Given the description of an element on the screen output the (x, y) to click on. 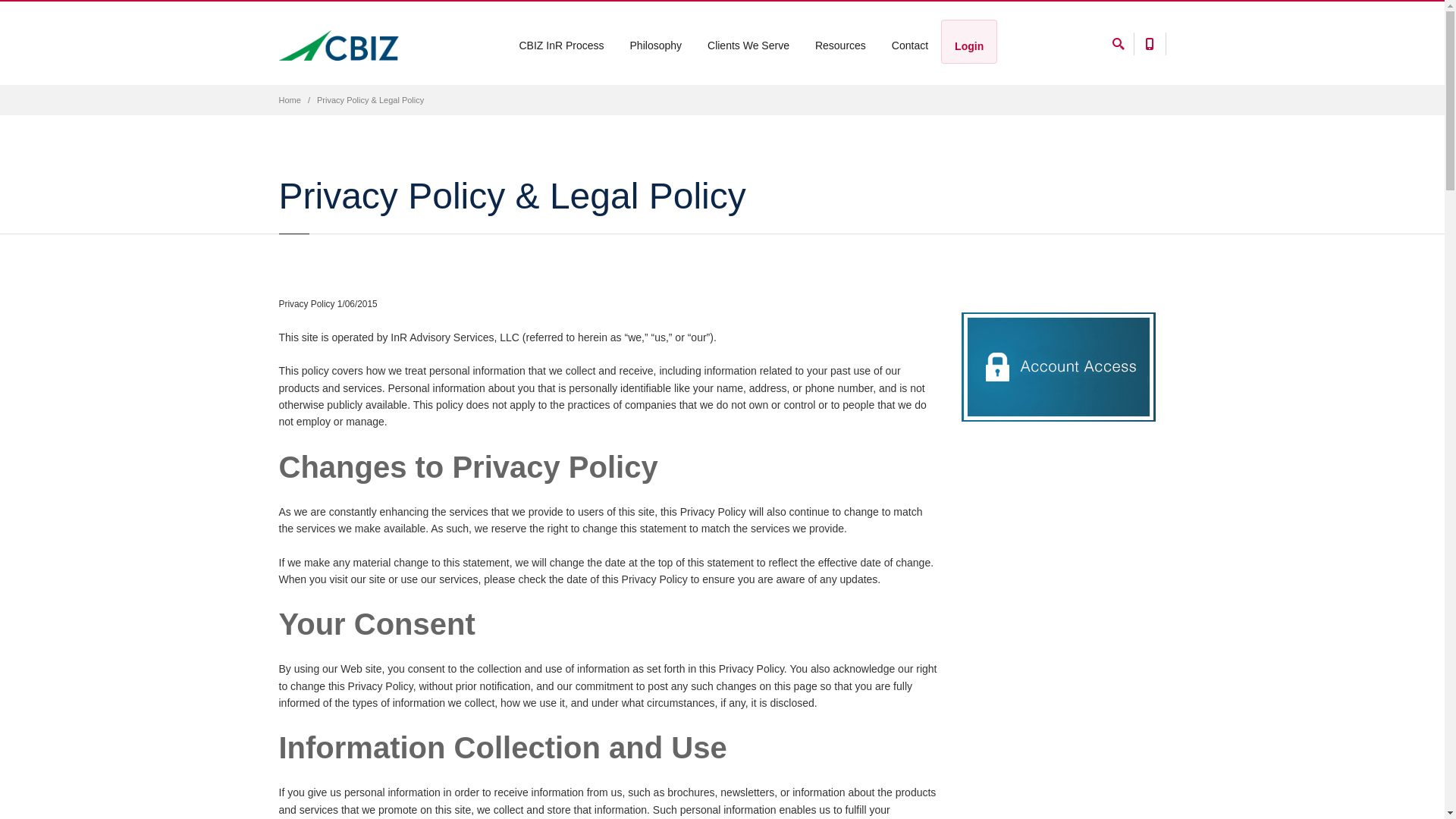
Resources (840, 40)
Home (290, 99)
Login (968, 46)
Login (968, 41)
InR Advisors (338, 45)
Contact (909, 45)
Philosophy (656, 40)
Resources (840, 45)
CBIZ InR Process (561, 40)
CBIZ InR Process (561, 45)
Clients We Serve (748, 40)
Philosophy (656, 45)
Clients We Serve (748, 45)
Contact (909, 40)
